Given the description of an element on the screen output the (x, y) to click on. 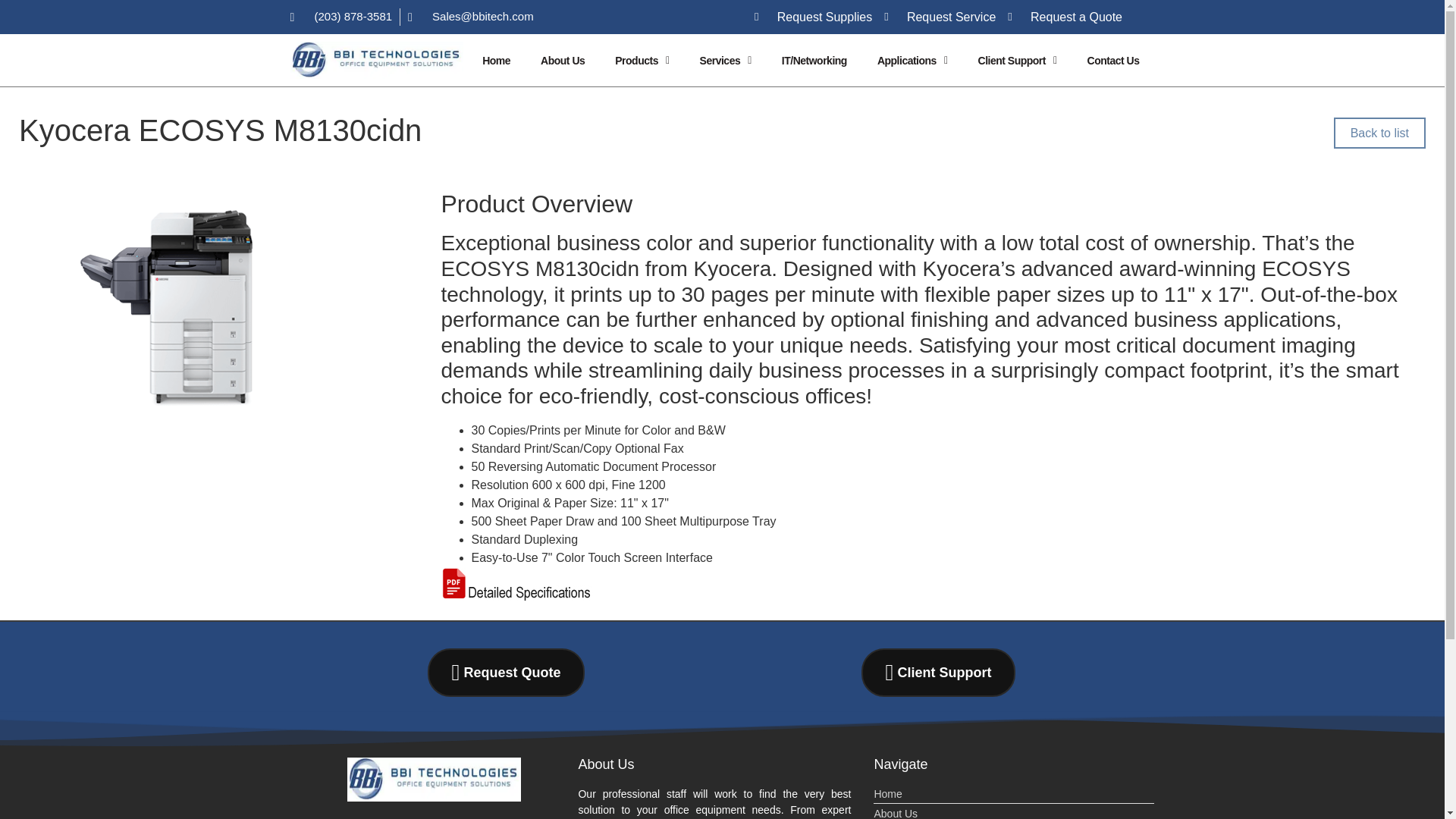
About Us (562, 59)
Request Supplies (813, 16)
Request Service (939, 16)
Contact Us (1112, 59)
Services (725, 59)
Request a Quote (1064, 16)
Home (496, 59)
Products (641, 59)
Applications (911, 59)
Client Support (1016, 59)
